Given the description of an element on the screen output the (x, y) to click on. 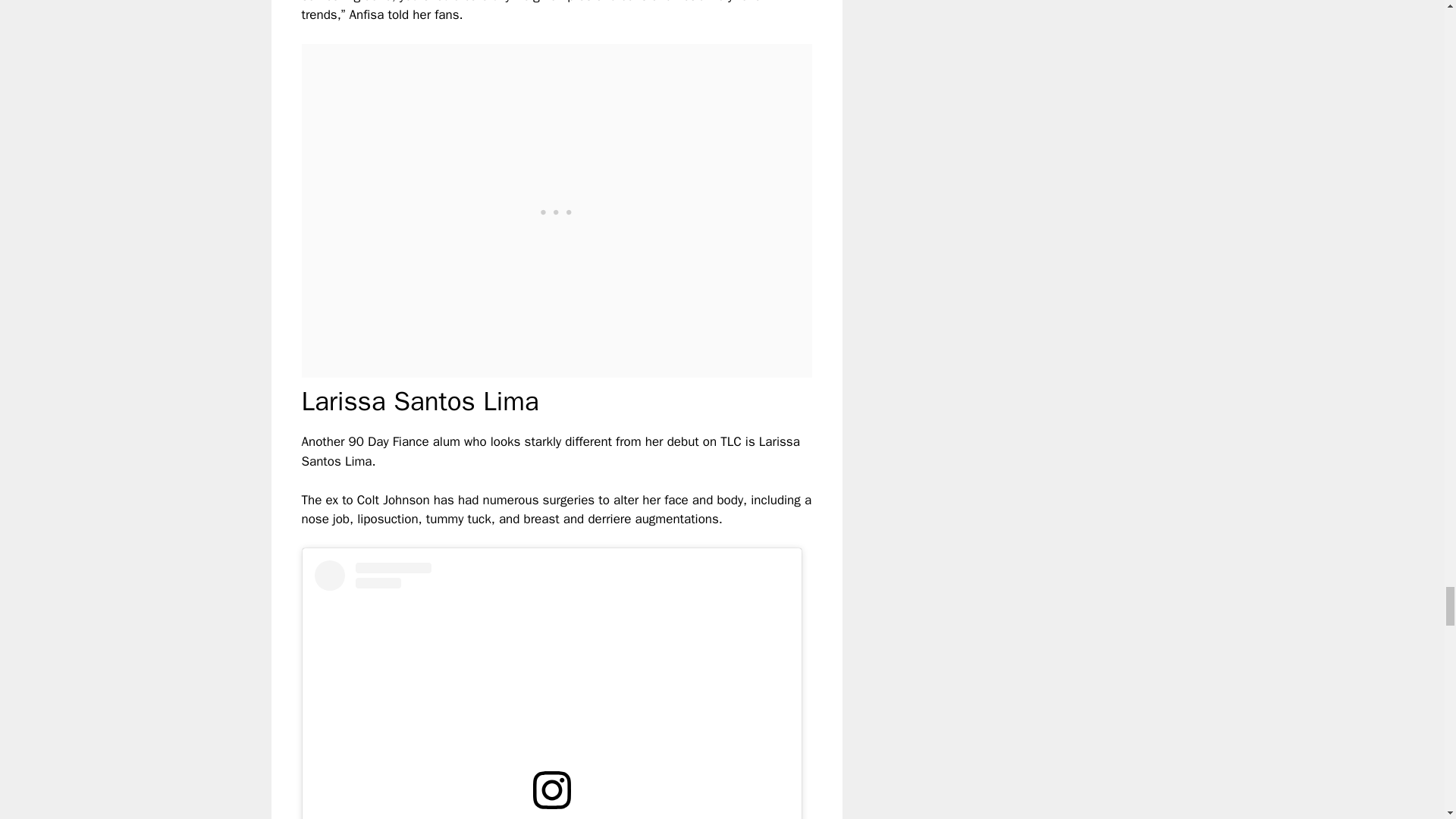
View this post on Instagram (551, 689)
